Given the description of an element on the screen output the (x, y) to click on. 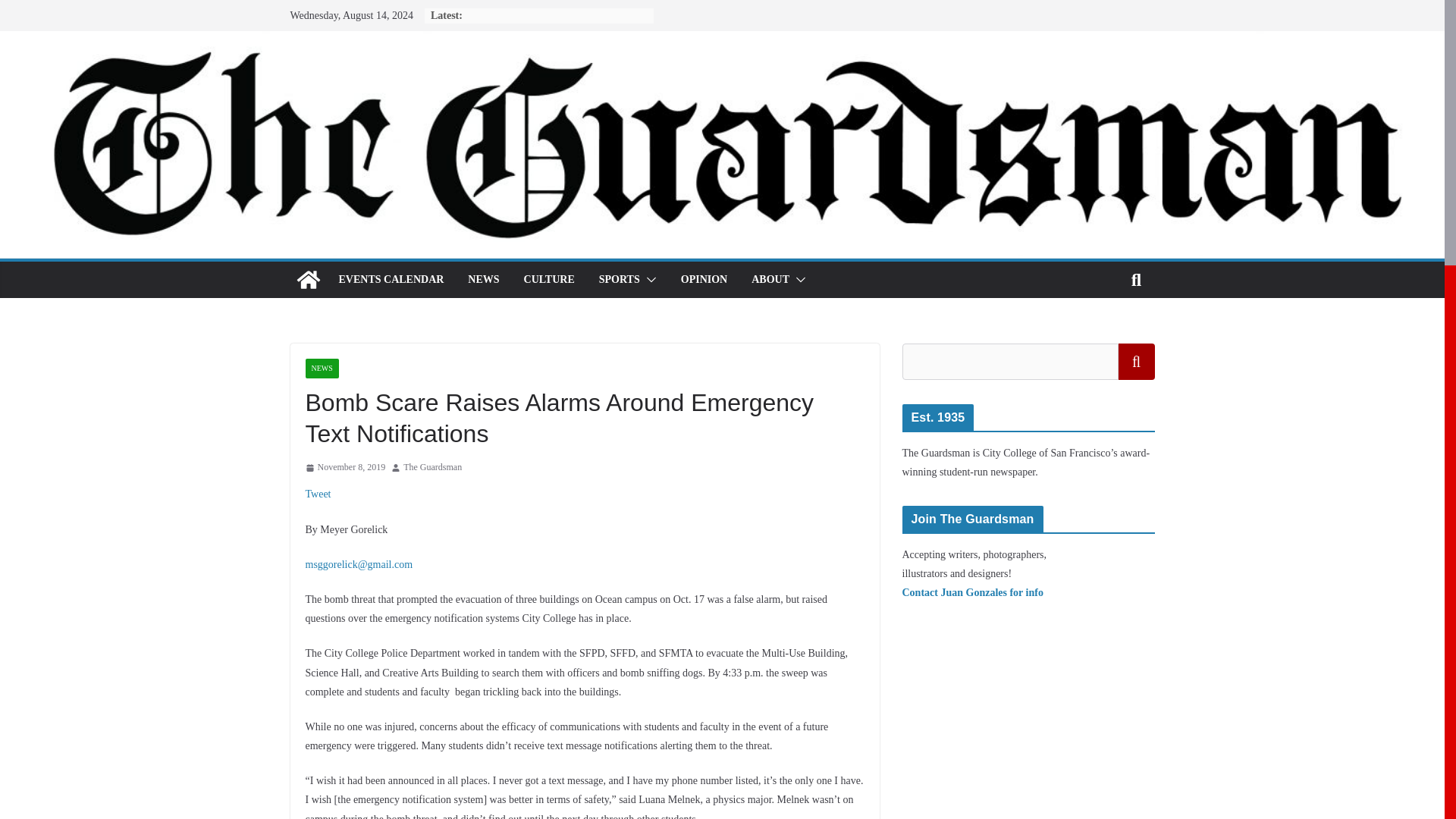
The Guardsman (307, 279)
5:21 pm (344, 467)
EVENTS CALENDAR (390, 279)
SPORTS (619, 279)
November 8, 2019 (344, 467)
NEWS (483, 279)
CULTURE (549, 279)
Tweet (317, 493)
The Guardsman (432, 467)
Search (1136, 361)
